Given the description of an element on the screen output the (x, y) to click on. 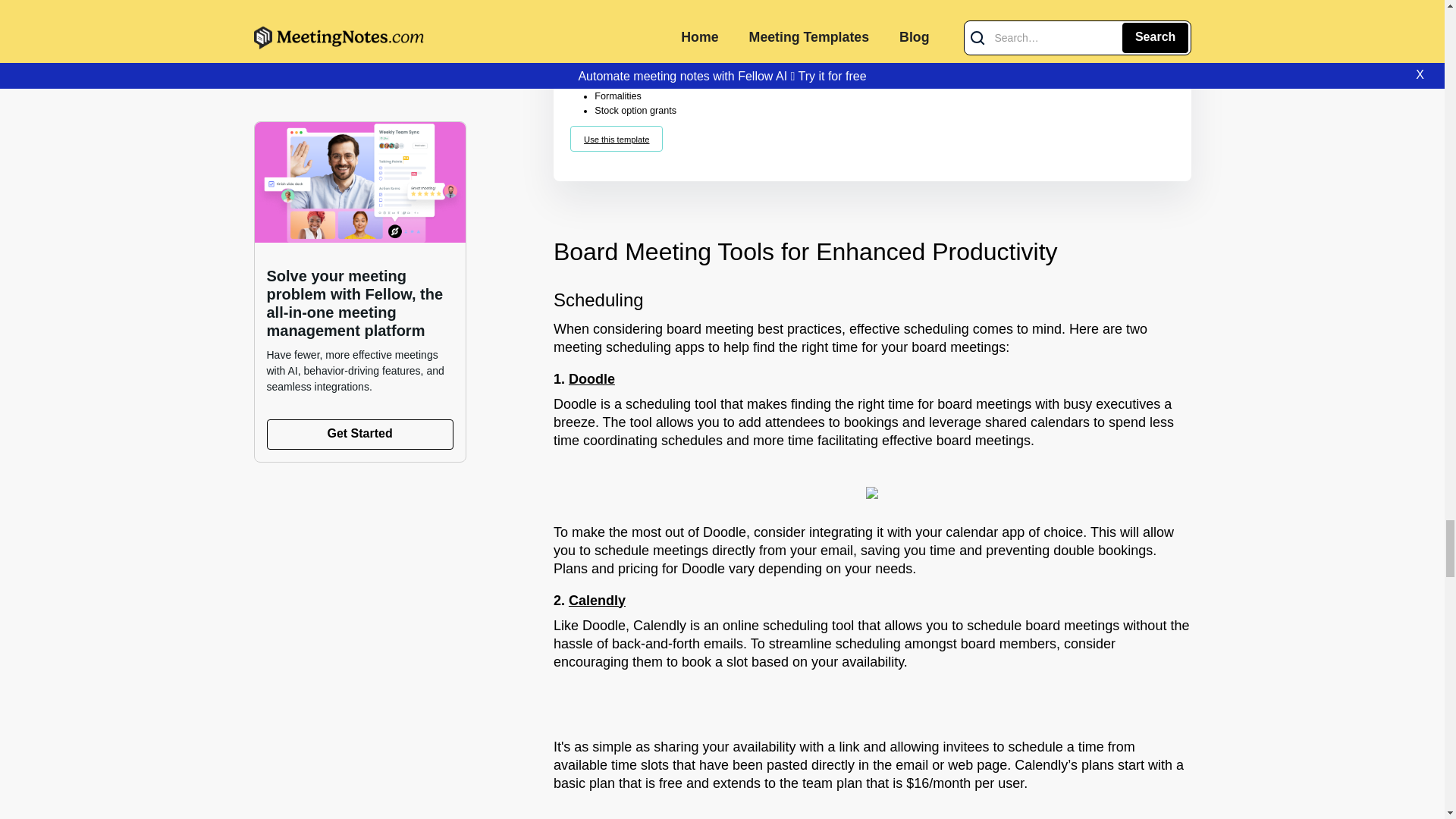
Calendly (597, 600)
Doodle (591, 379)
Use this template (616, 138)
